Given the description of an element on the screen output the (x, y) to click on. 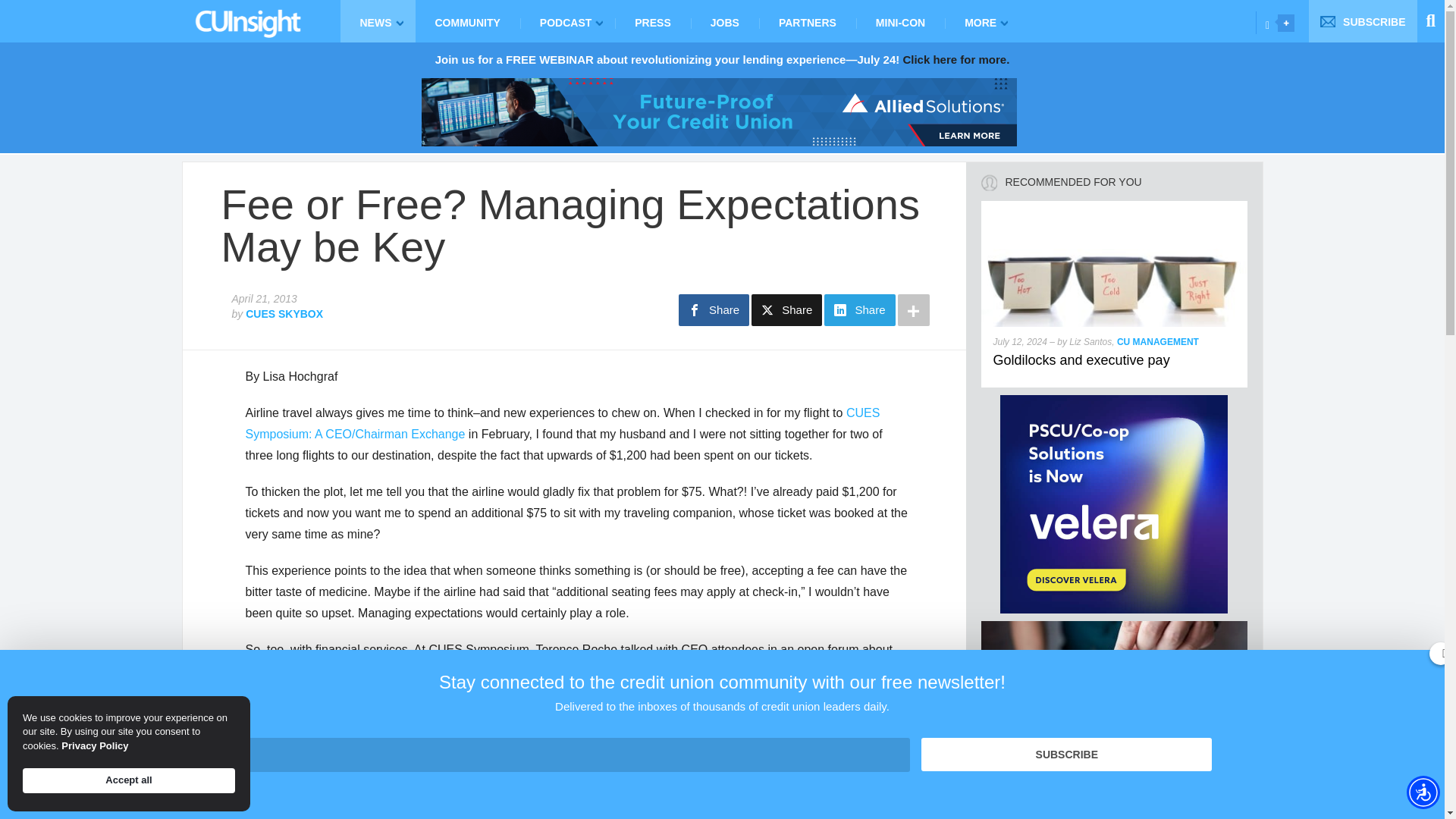
MORE (982, 21)
Board chair leadership archetypes (1095, 780)
Opener (1286, 22)
CUES SKYBOX (284, 313)
COMMUNITY (466, 21)
JOBS (724, 21)
Share (713, 309)
Accessibility Menu (1422, 792)
PARTNERS (807, 21)
Goldilocks and executive pay (1114, 206)
Goldilocks and executive pay (1081, 359)
Linkedin (1267, 24)
MINI-CON (900, 21)
NEWS (376, 21)
PODCAST (566, 21)
